Given the description of an element on the screen output the (x, y) to click on. 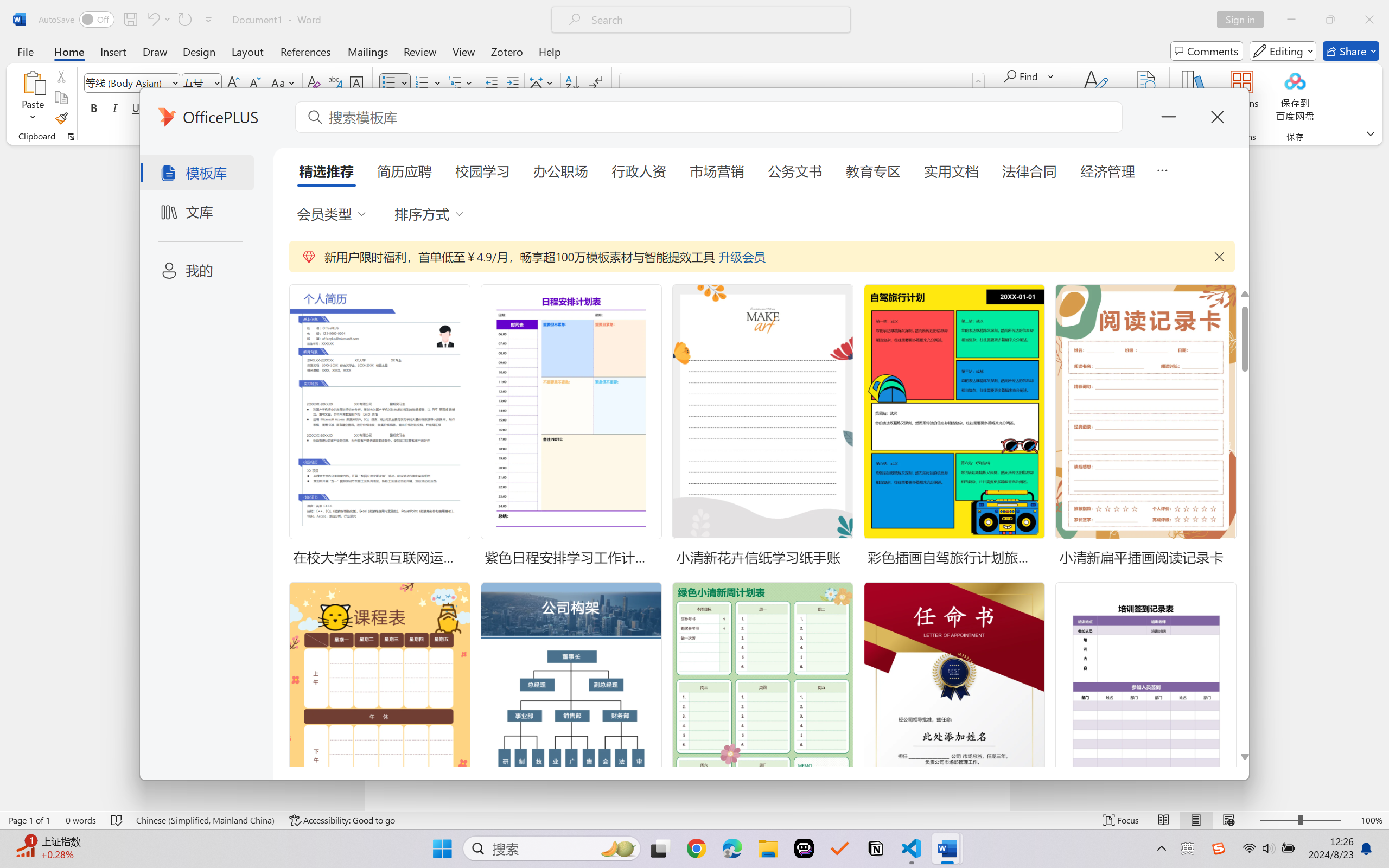
Language Chinese (Simplified, Mainland China) (205, 819)
